Given the description of an element on the screen output the (x, y) to click on. 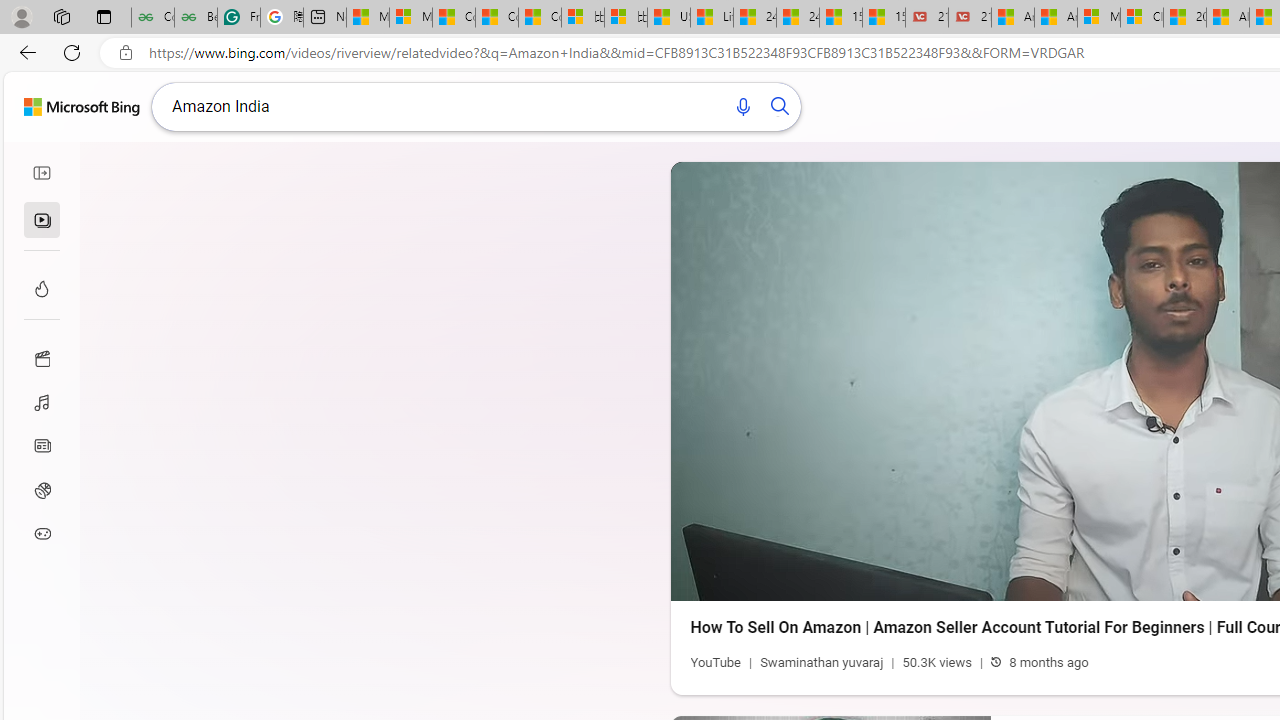
Introduction (1046, 580)
Search using voice (734, 105)
Complete Guide to Arrays Data Structure - GeeksforGeeks (152, 17)
Microsoft Services Agreement (1098, 17)
21 Movies That Outdid the Books They Were Based On (969, 17)
